Given the description of an element on the screen output the (x, y) to click on. 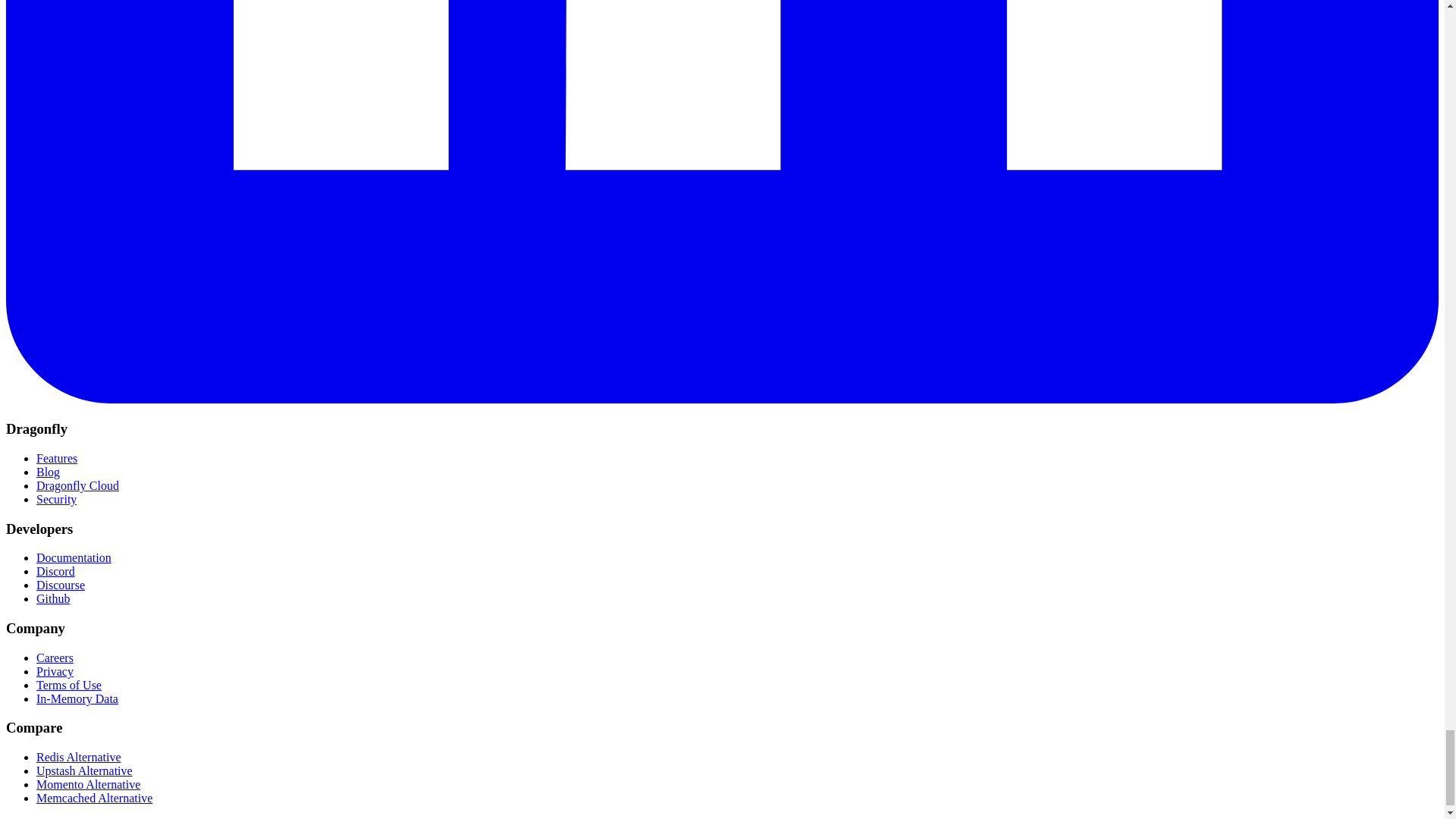
Dragonfly Cloud (77, 485)
Features (56, 458)
Blog (47, 472)
